Given the description of an element on the screen output the (x, y) to click on. 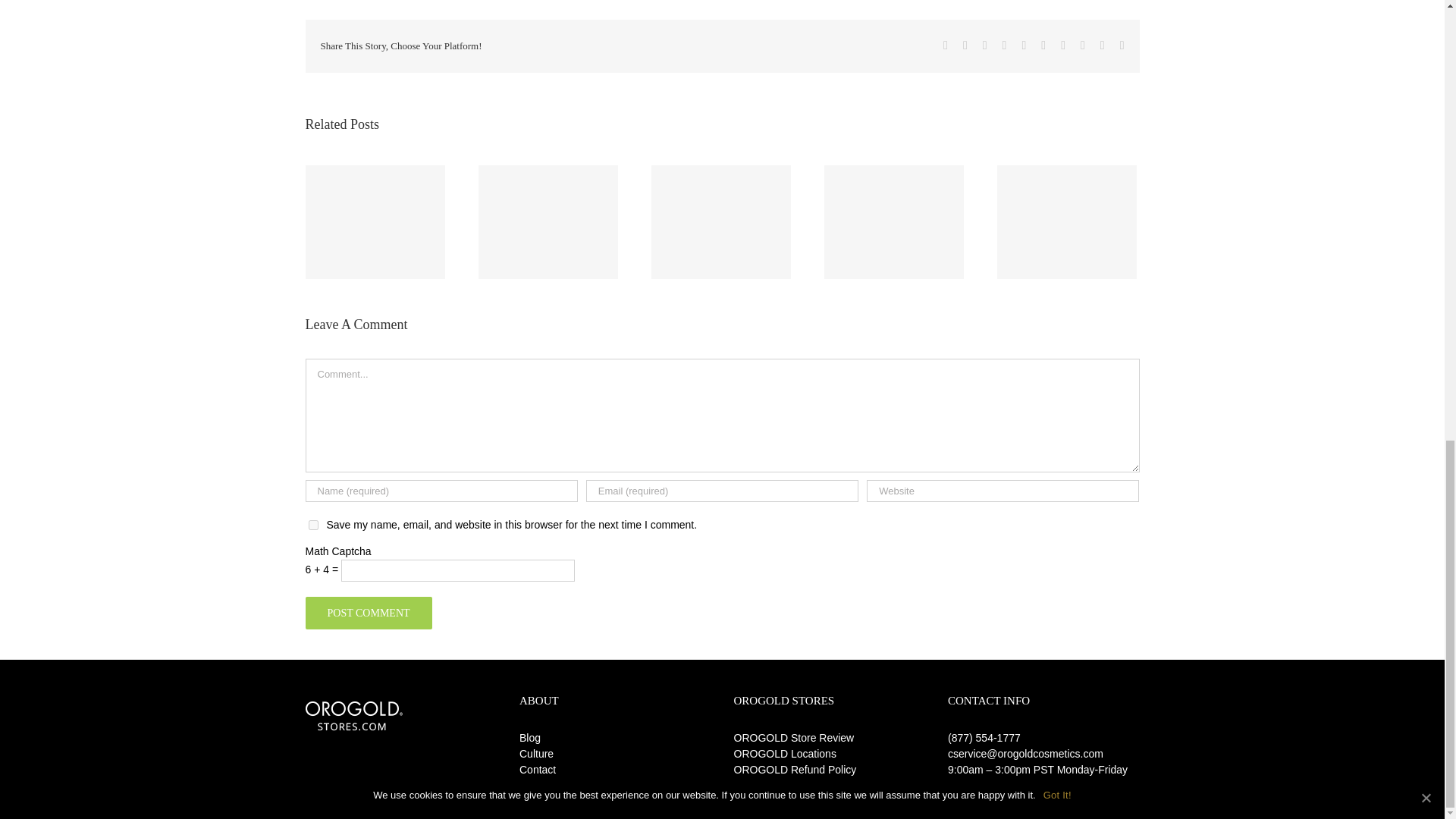
yes (312, 524)
Post Comment (367, 612)
